Given the description of an element on the screen output the (x, y) to click on. 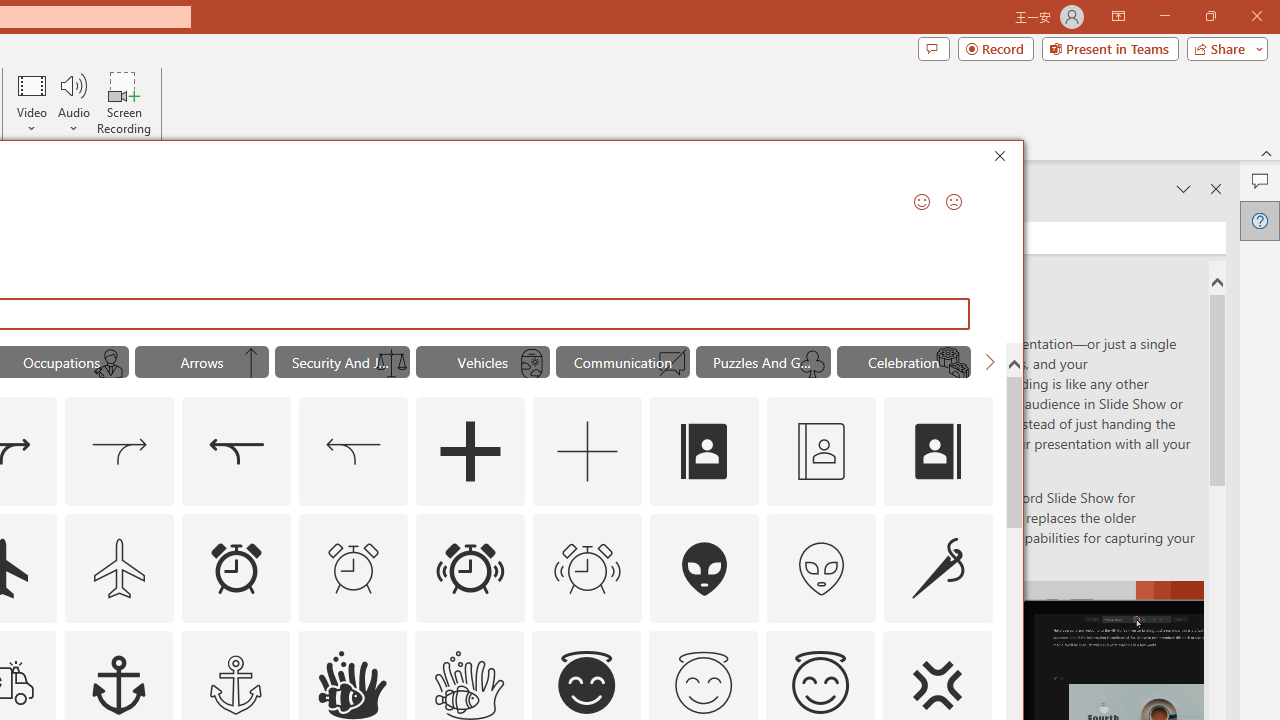
AutomationID: Icons_AlienFace (705, 568)
"Arrows" Icons. (201, 362)
AutomationID: Icons_Acquisition_RTL (236, 452)
Thumbnail (977, 645)
AutomationID: Icons_AlarmClock_M (353, 568)
"Puzzles And Games" Icons. (763, 362)
AutomationID: Icons_AddressBook_LTR (705, 452)
